Given the description of an element on the screen output the (x, y) to click on. 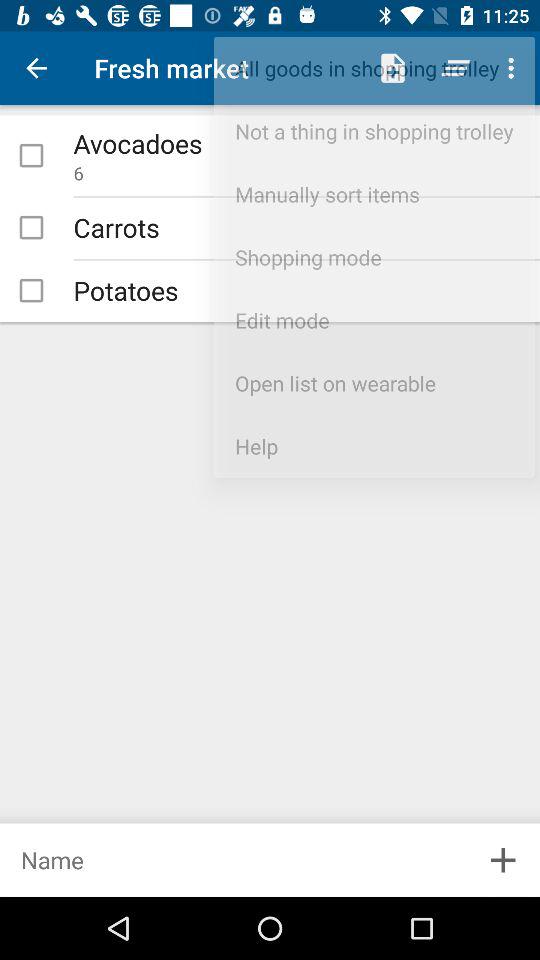
add page (233, 860)
